Given the description of an element on the screen output the (x, y) to click on. 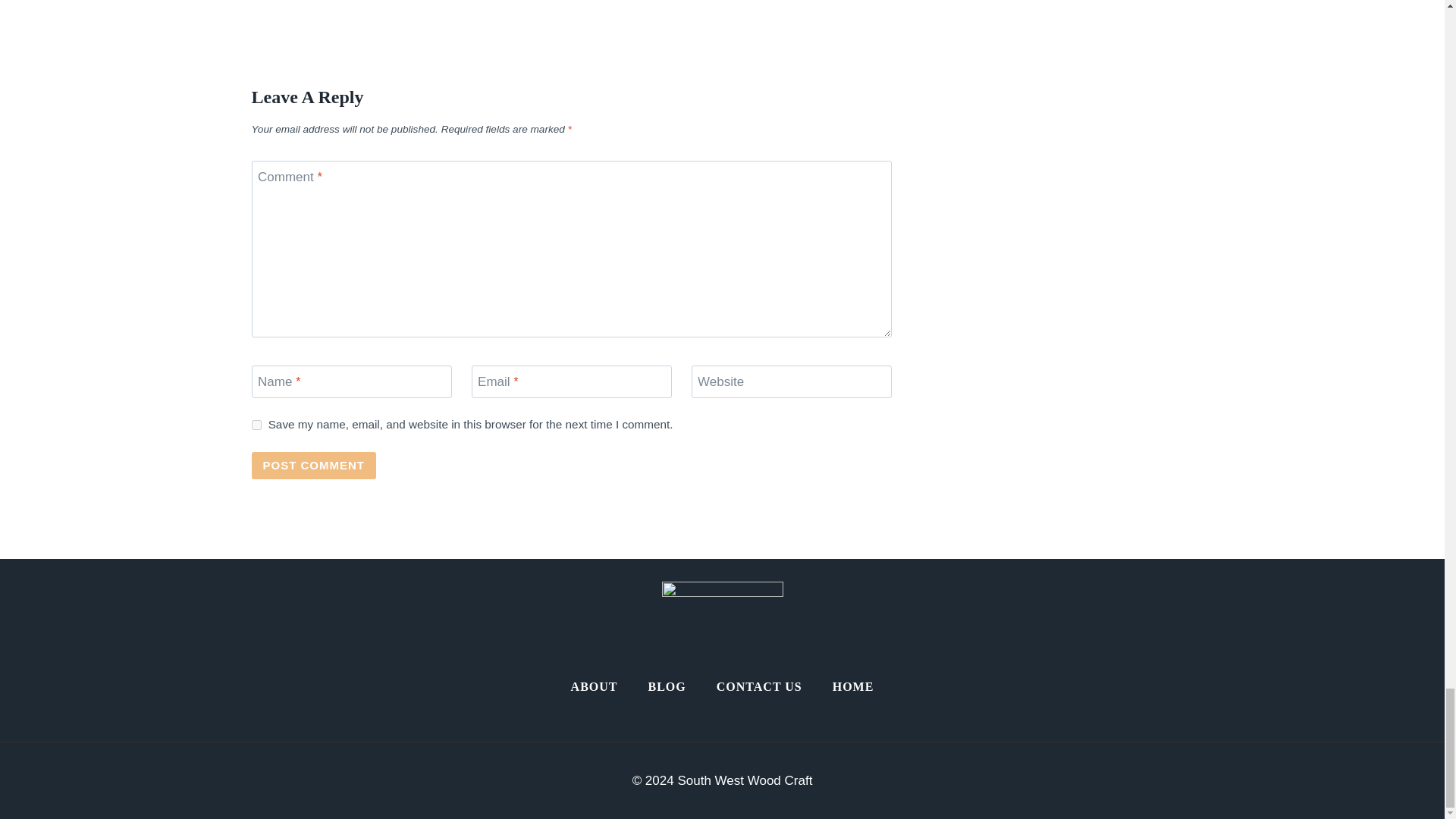
yes (256, 424)
Post Comment (314, 465)
Post Comment (314, 465)
